Given the description of an element on the screen output the (x, y) to click on. 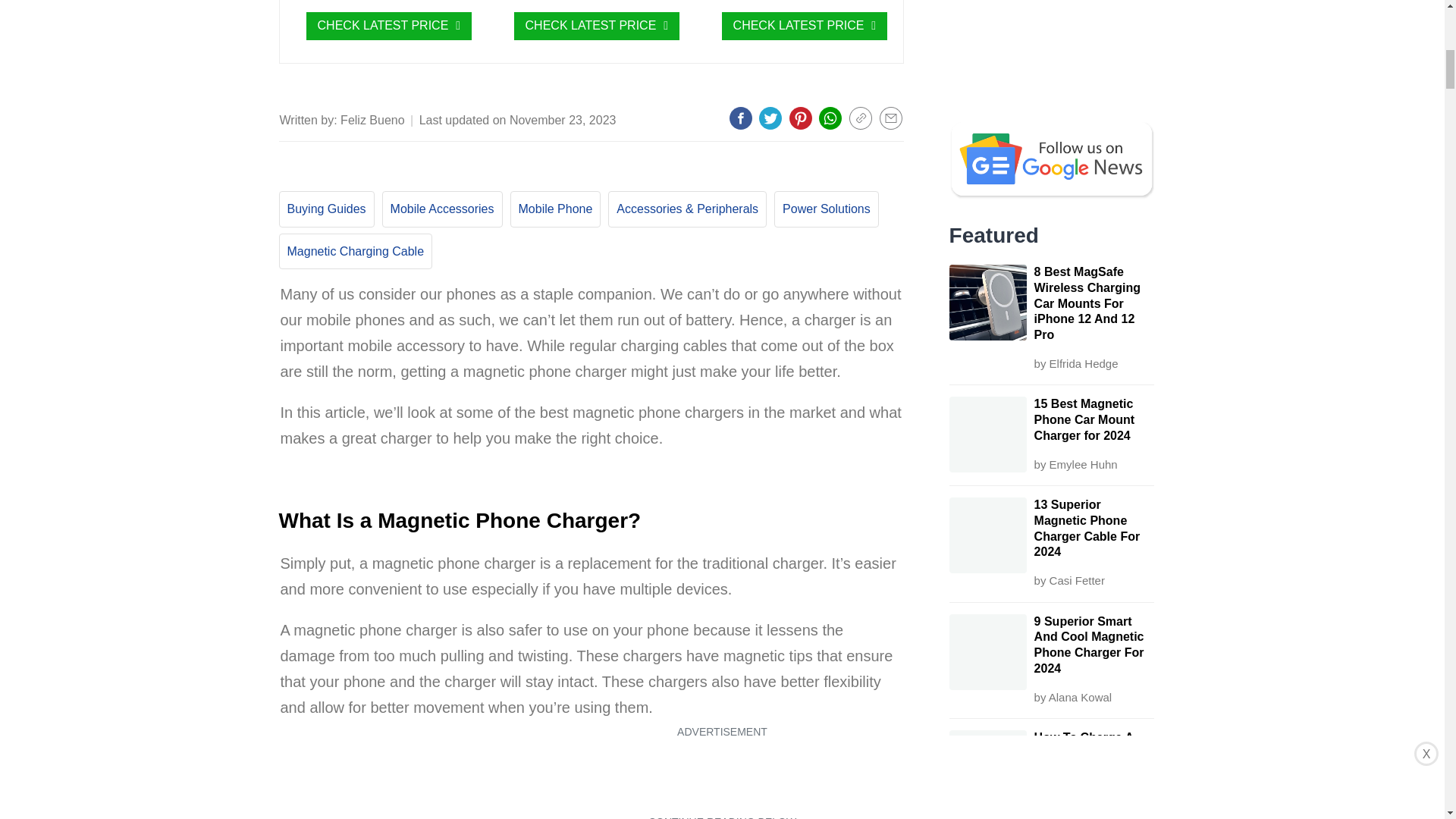
Mail the Link (890, 118)
Copy to Clipboard (860, 118)
Share on facebook (740, 118)
Share on twitter (769, 118)
Share on Pinterest (800, 118)
Share on Whatsapp (829, 118)
